Given the description of an element on the screen output the (x, y) to click on. 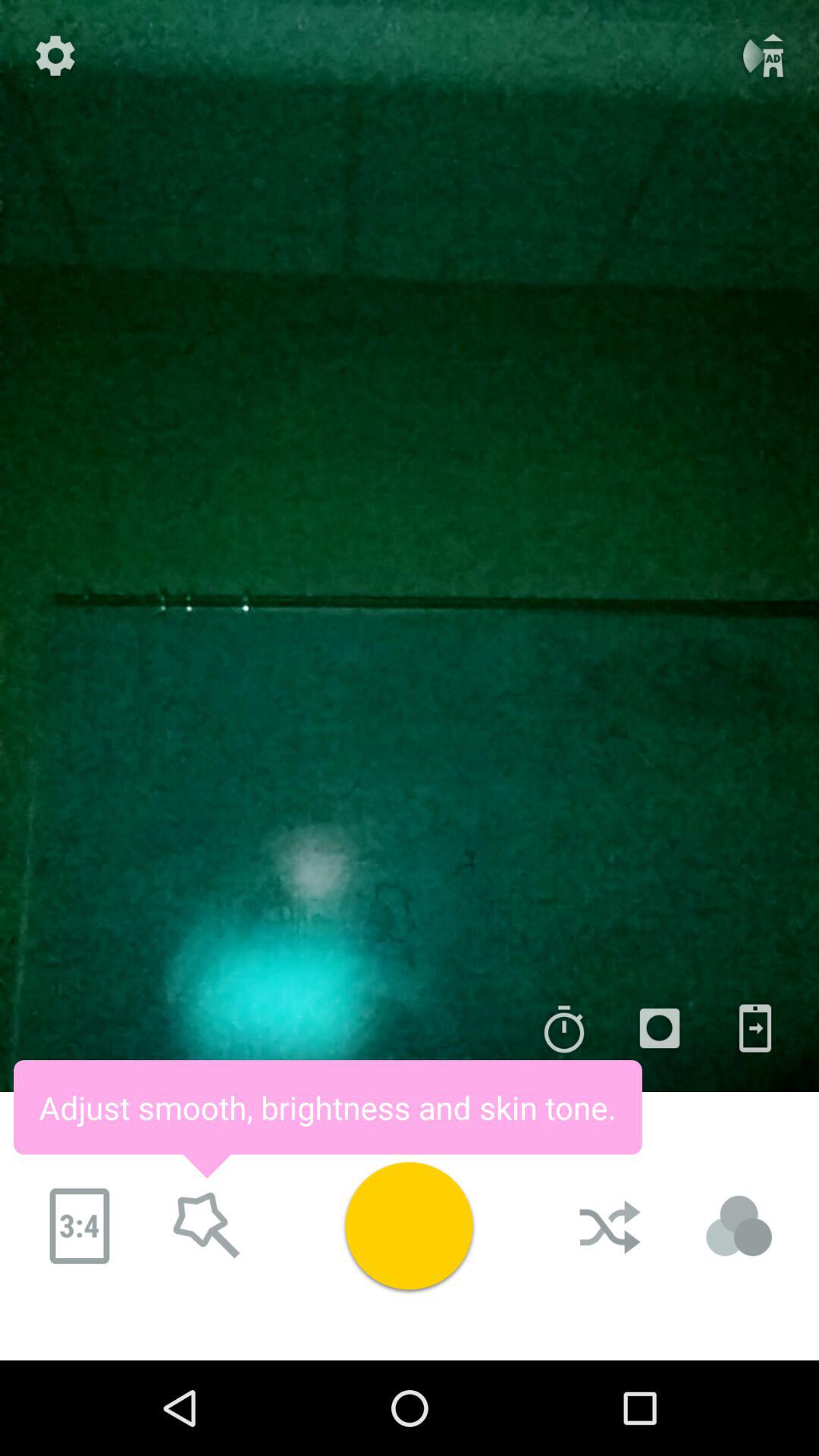
adjust smooth brightness and skin tone (206, 1226)
